Given the description of an element on the screen output the (x, y) to click on. 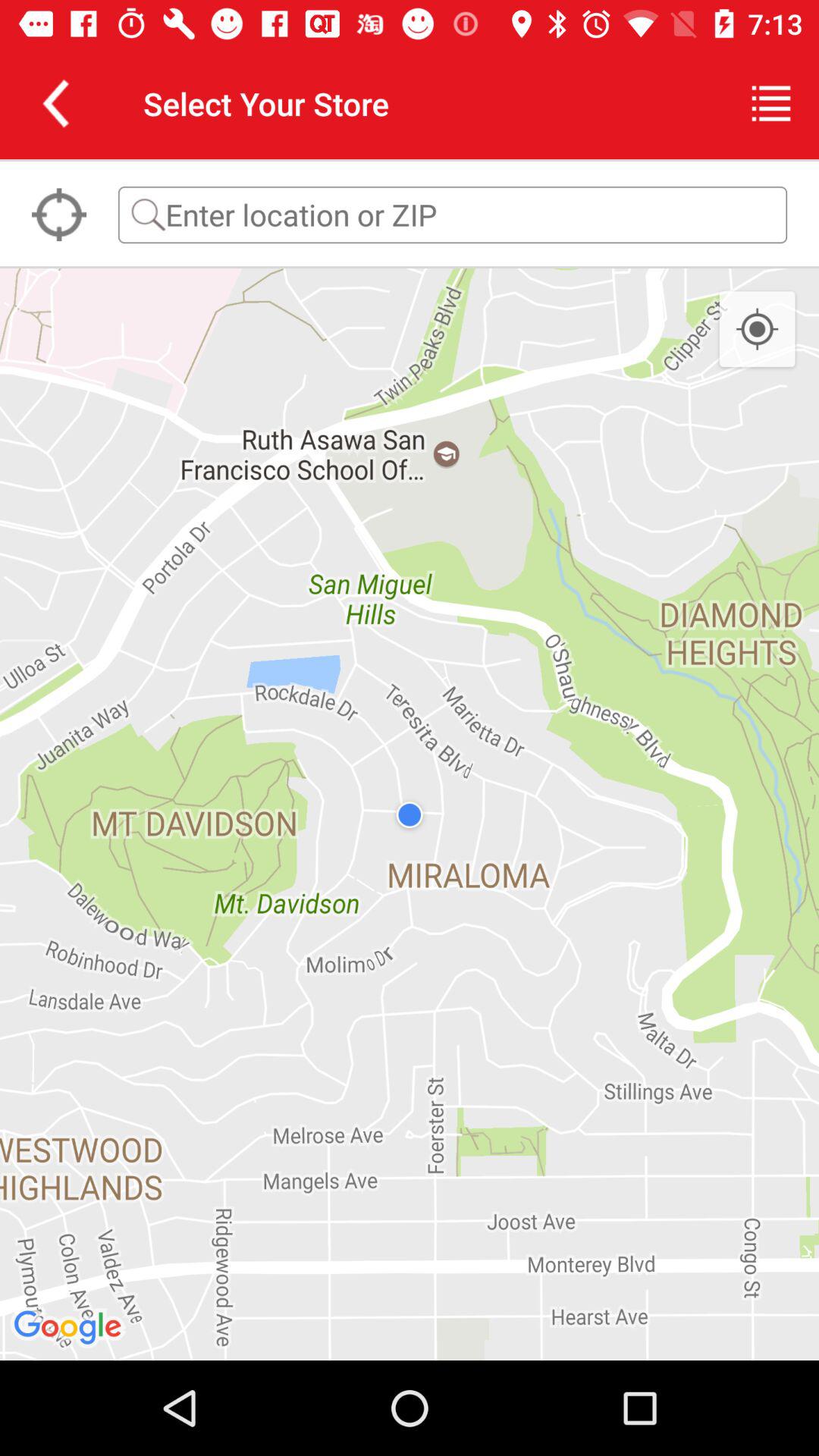
press the icon next to the select your store (55, 103)
